Given the description of an element on the screen output the (x, y) to click on. 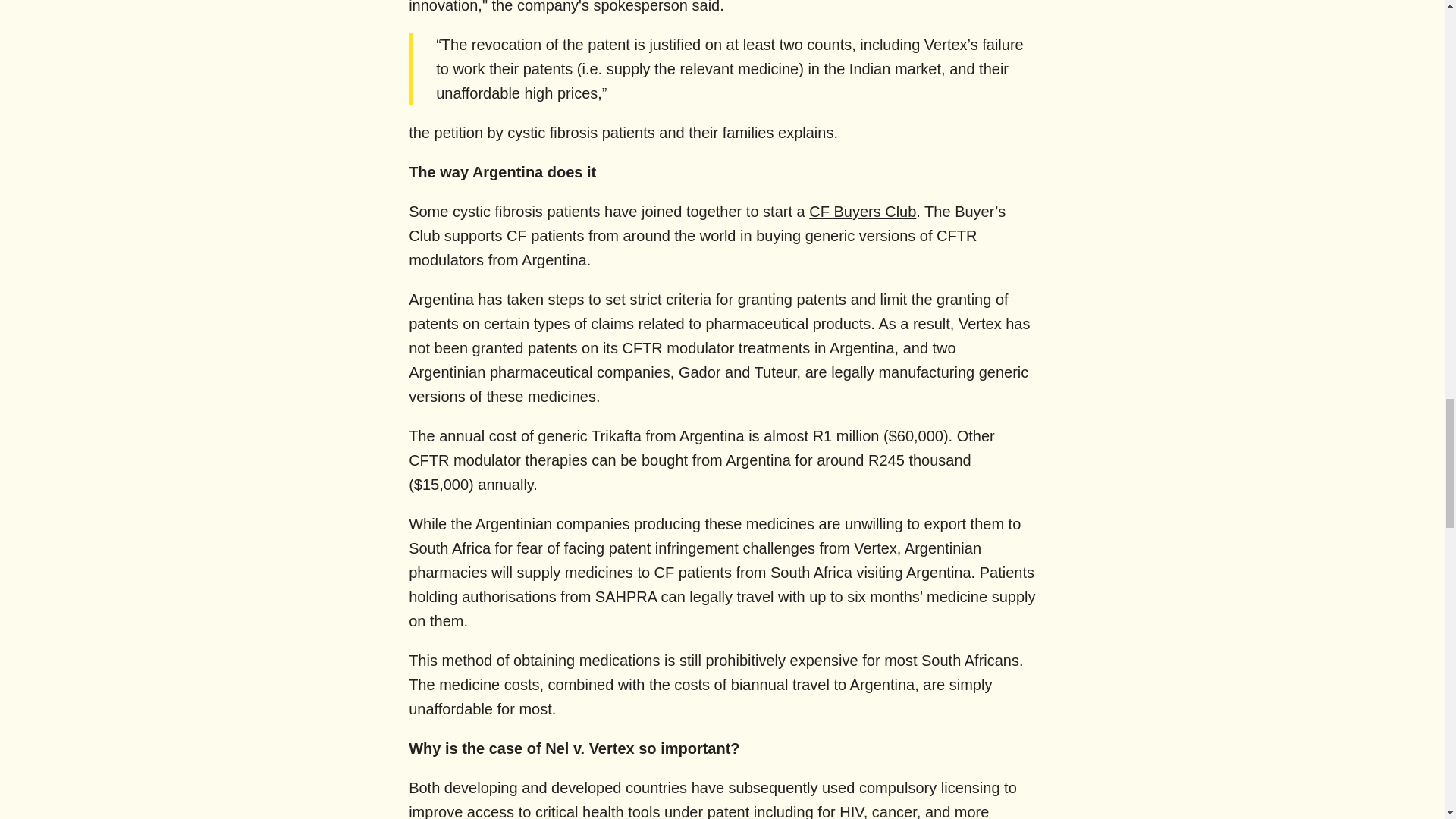
CF Buyers Club (862, 211)
